Given the description of an element on the screen output the (x, y) to click on. 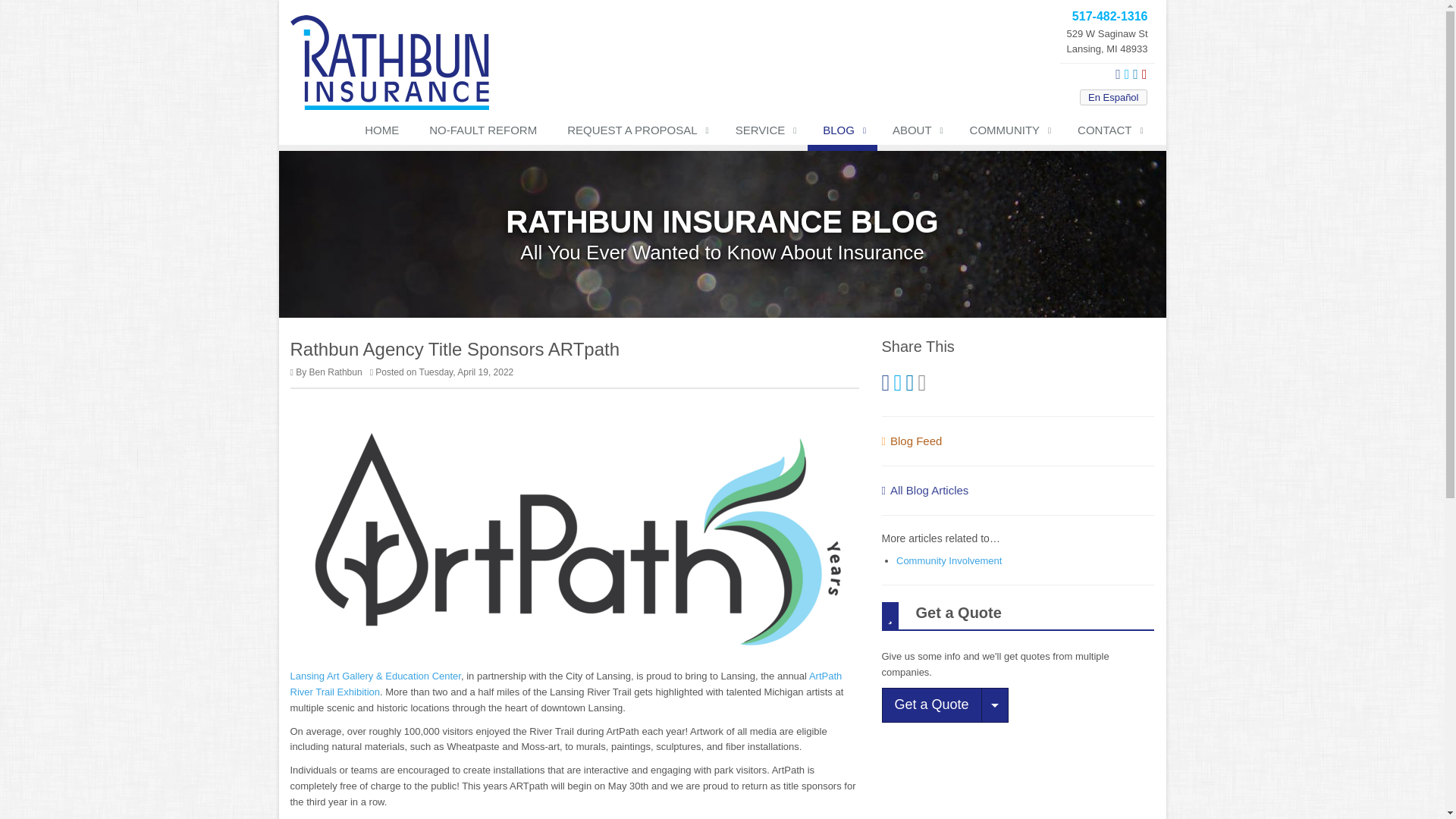
HOME (381, 133)
SERVICE (764, 133)
REQUEST A PROPOSAL (635, 133)
NO-FAULT REFORM (482, 133)
